Given the description of an element on the screen output the (x, y) to click on. 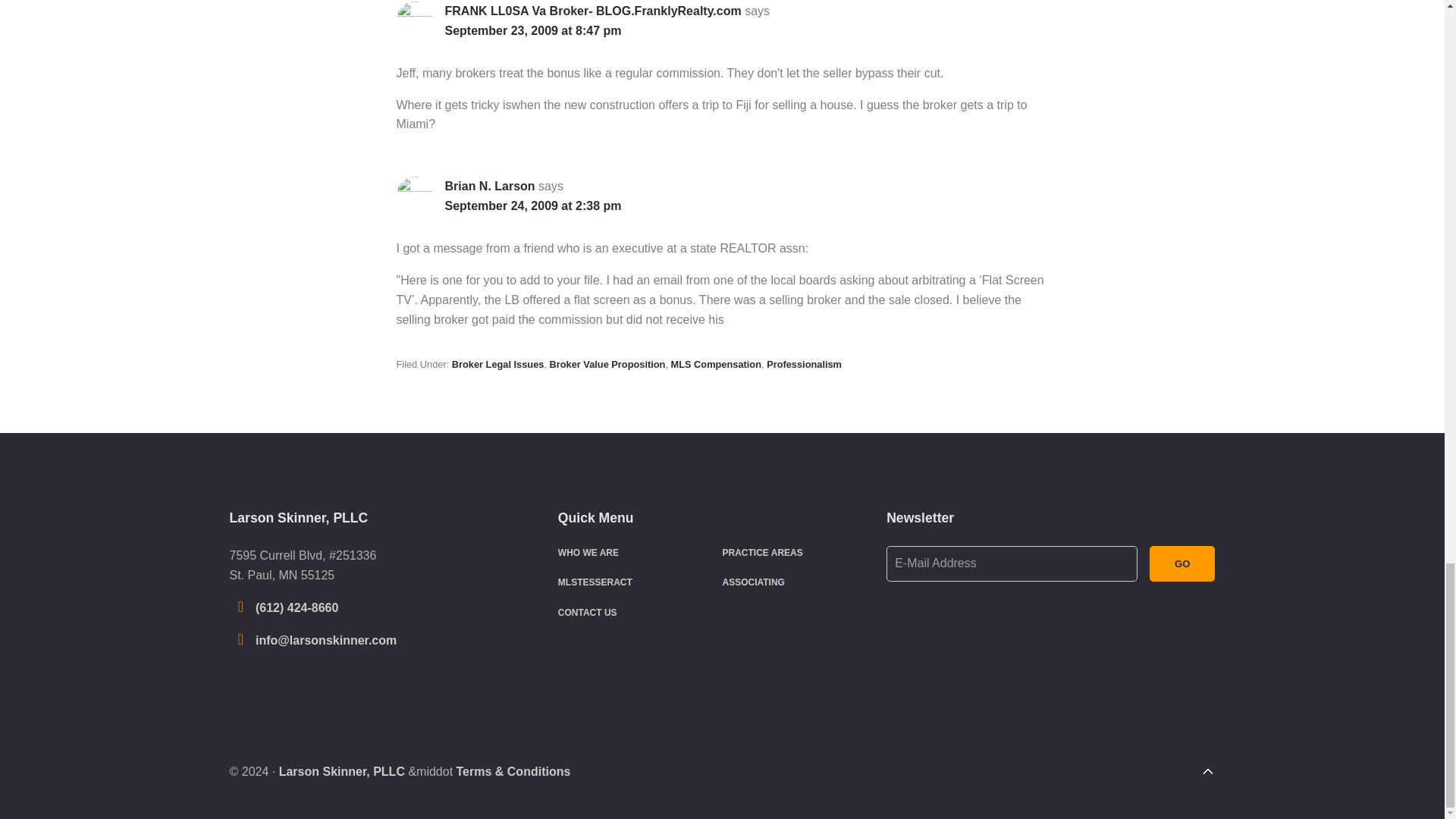
WHO WE ARE (587, 552)
Professionalism (804, 364)
Brian N. Larson (489, 185)
FRANK LL0SA Va Broker- BLOG.FranklyRealty.com (592, 10)
Broker Value Proposition (607, 364)
MLSTESSERACT (594, 582)
Broker Legal Issues (497, 364)
PRACTICE AREAS (762, 552)
September 23, 2009 at 8:47 pm (532, 30)
MLS Compensation (716, 364)
